Given the description of an element on the screen output the (x, y) to click on. 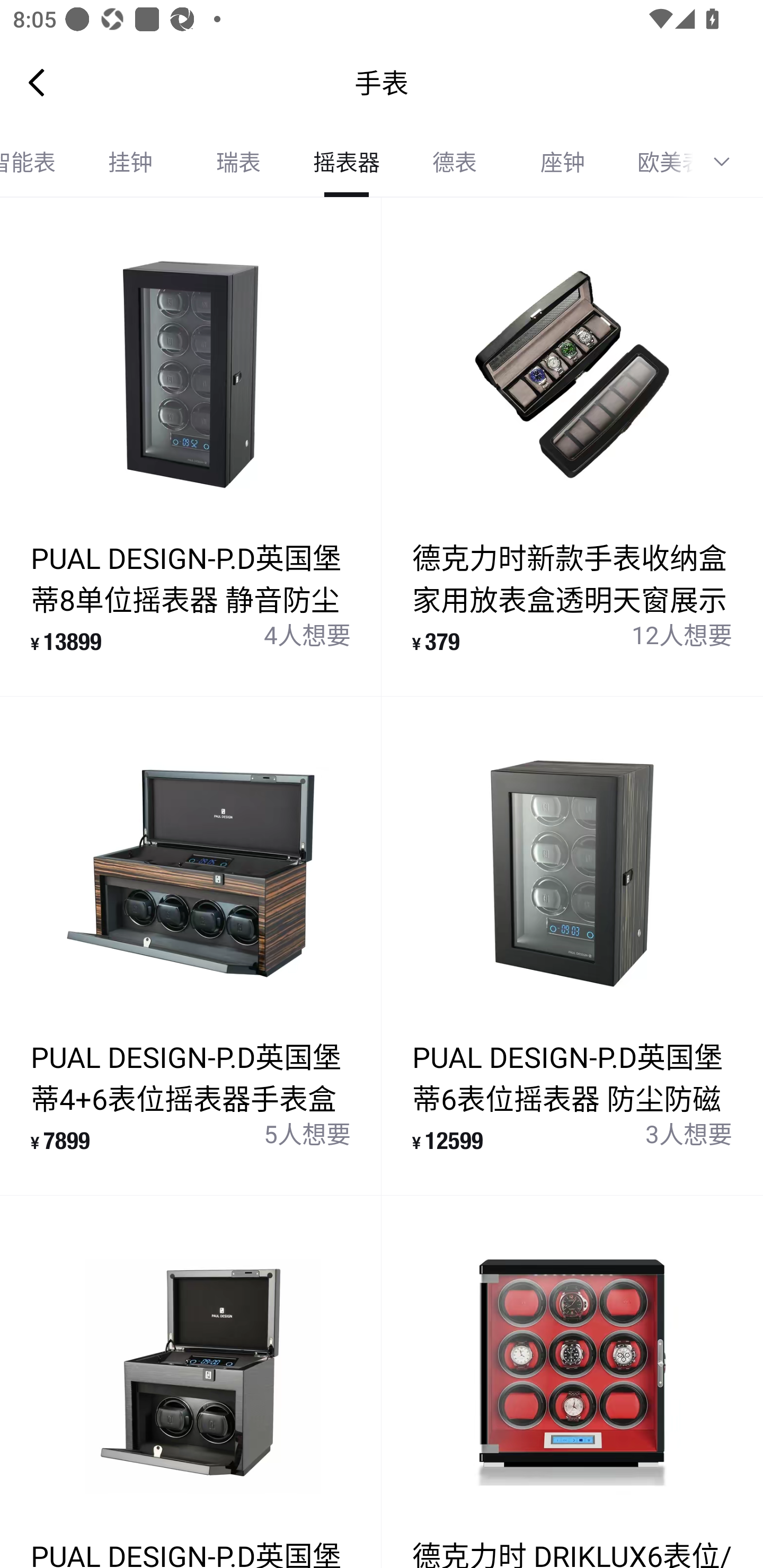
Navigate up (36, 82)
智能表 (38, 162)
挂钟 (130, 162)
瑞表 (238, 162)
摇表器 (346, 162)
德表 (454, 162)
座钟 (562, 162)
欧美表 (654, 162)
 (727, 162)
德克力时 DRIKLUX6表位/
9表位摇表器 指纹解锁防
磁静音收纳盒 黑色红色 
男女同款 (572, 1381)
